Given the description of an element on the screen output the (x, y) to click on. 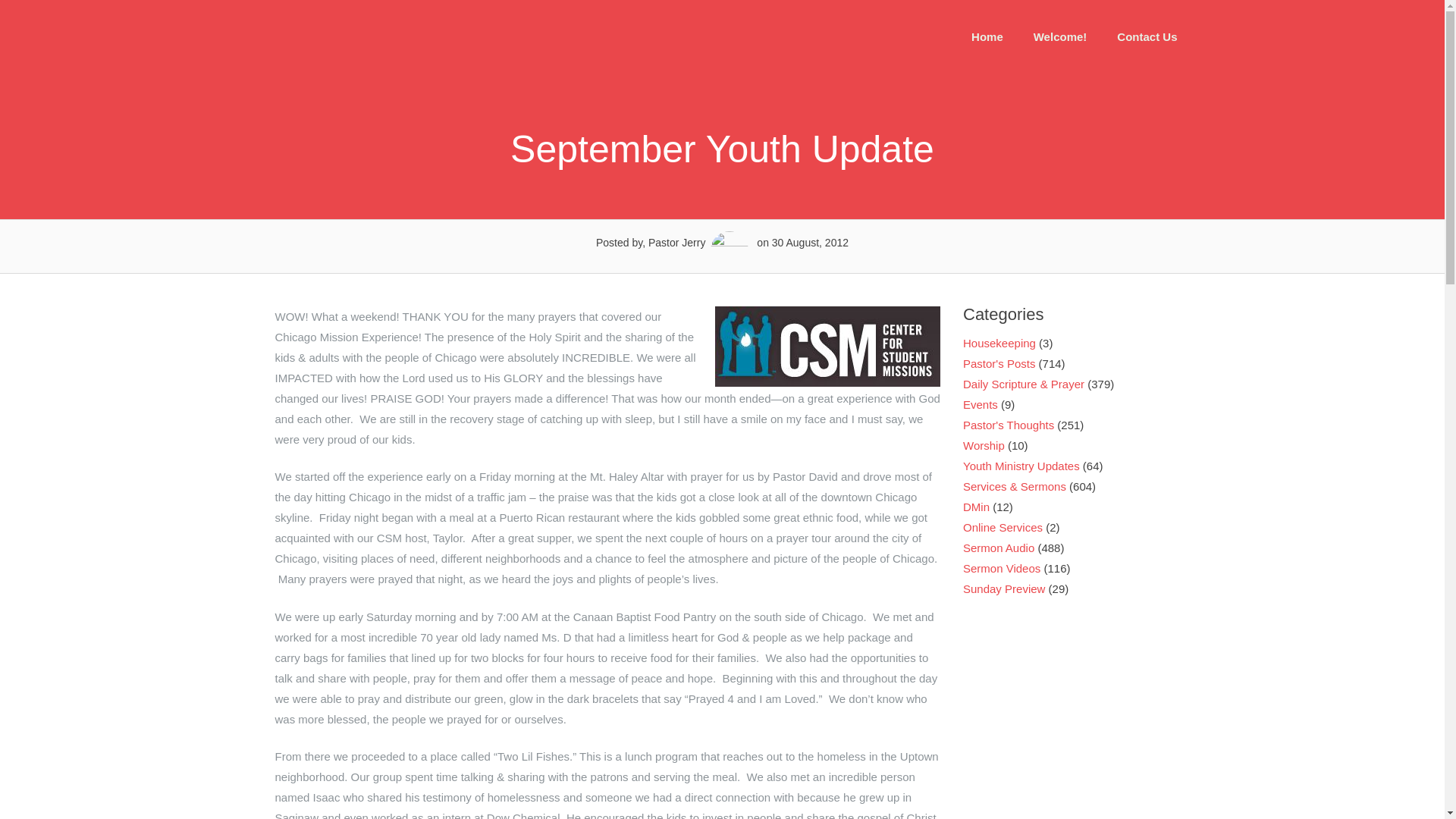
Pastor's Posts (998, 363)
Home (986, 36)
Contact Us (1147, 36)
Housekeeping (998, 342)
csm (827, 346)
Welcome! (1059, 36)
